Given the description of an element on the screen output the (x, y) to click on. 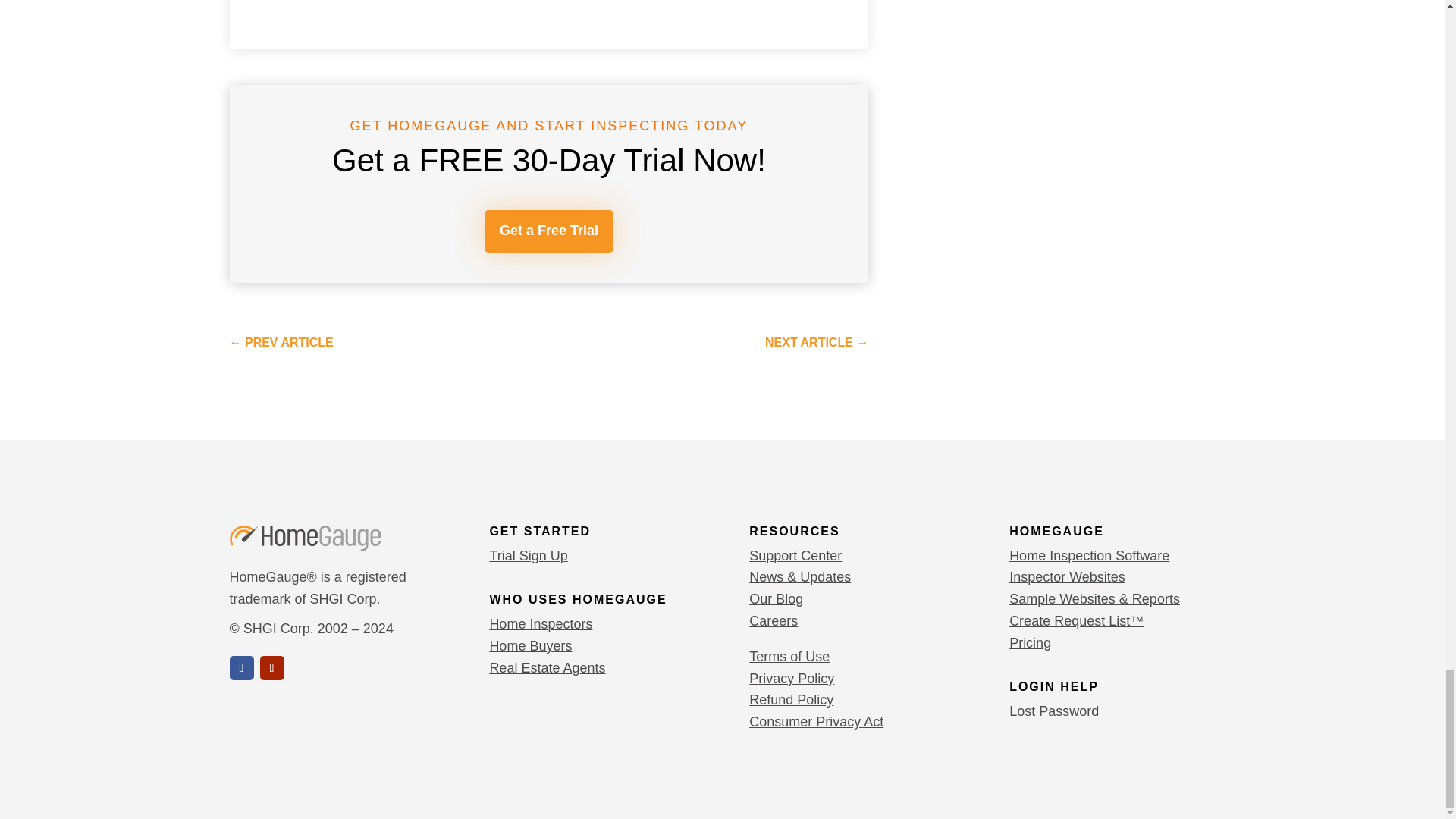
Follow on Youtube (271, 668)
HomeGauge-Software (304, 538)
Follow on Facebook (240, 668)
